Given the description of an element on the screen output the (x, y) to click on. 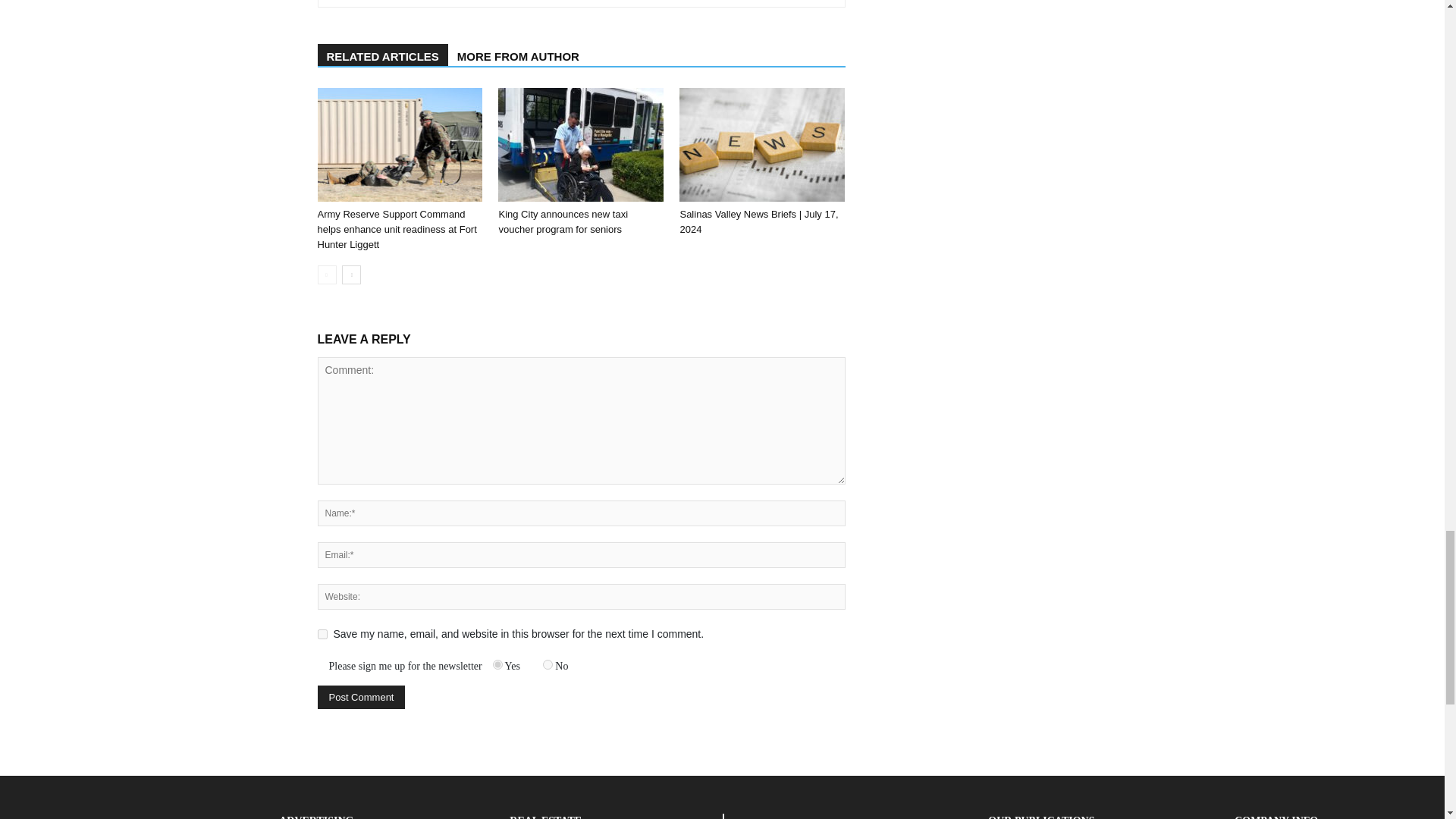
yes (321, 634)
Yes (497, 664)
No (548, 664)
Post Comment (360, 697)
